Given the description of an element on the screen output the (x, y) to click on. 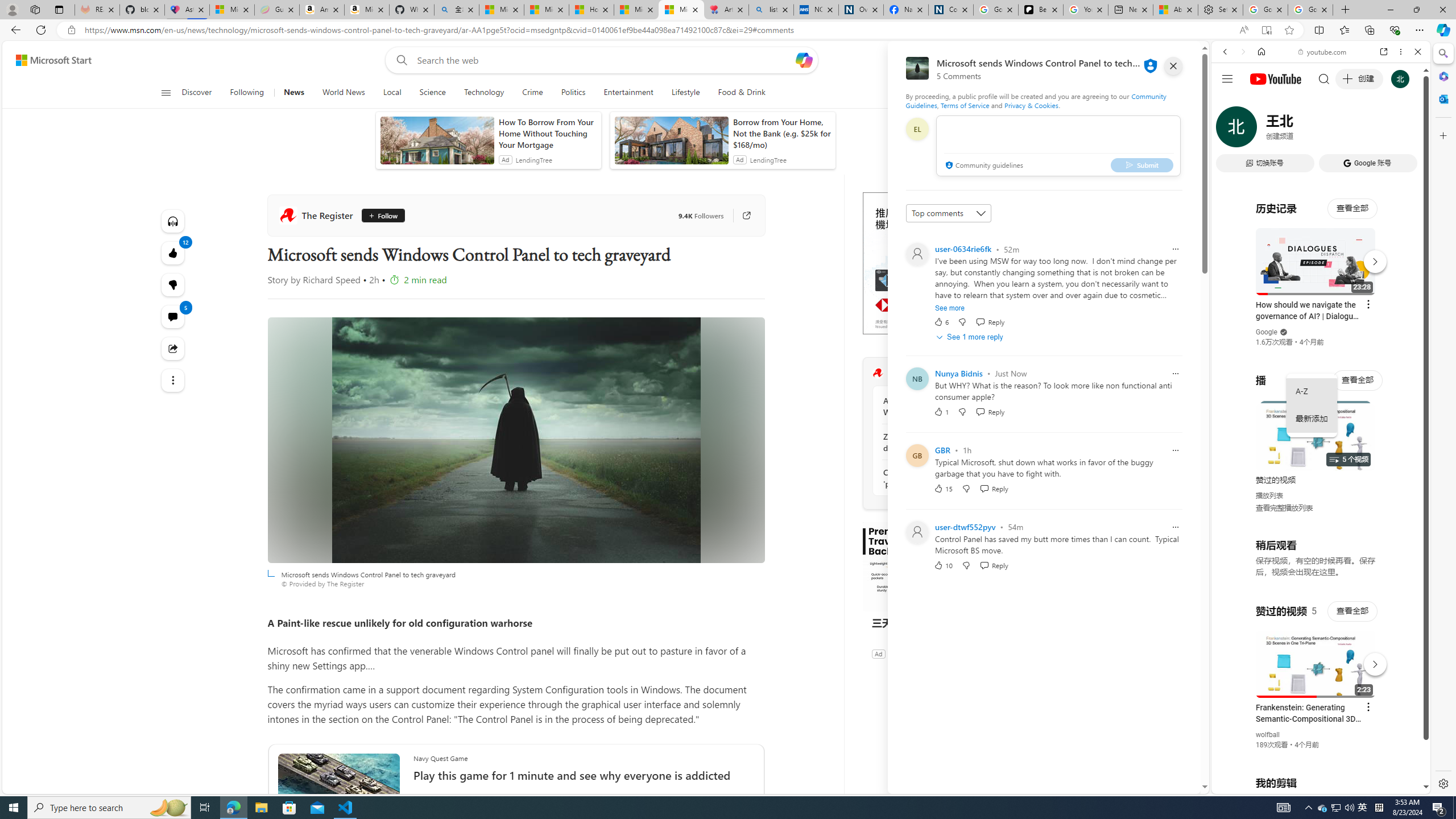
See 1 more reply (971, 336)
World News (343, 92)
Music (1320, 309)
Search Filter, IMAGES (1262, 129)
Enter Immersive Reader (F9) (1266, 29)
Trailer #2 [HD] (1320, 336)
#you (1320, 253)
